Given the description of an element on the screen output the (x, y) to click on. 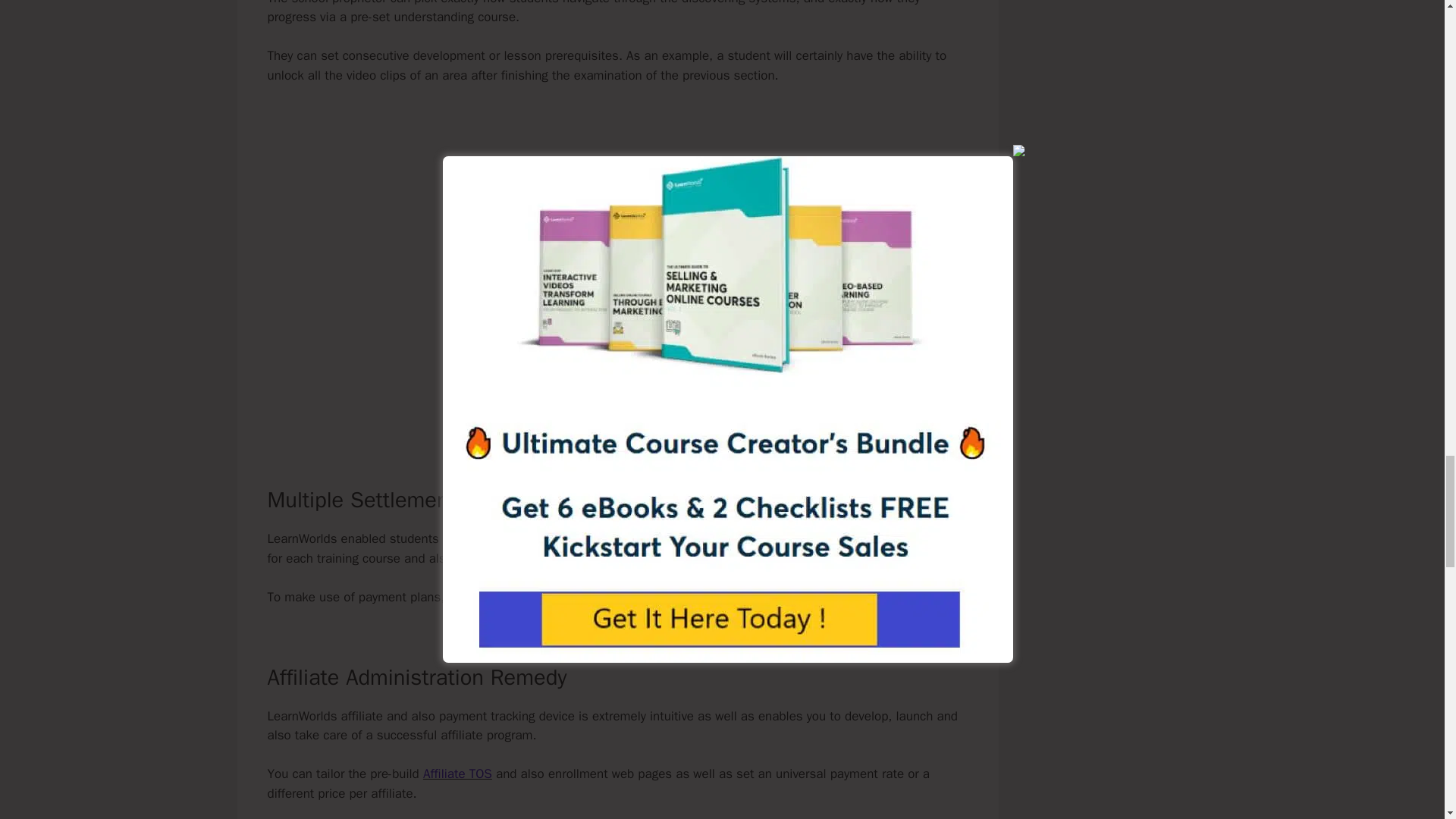
Affiliate TOS (457, 773)
PayPal (840, 596)
Stripe (693, 596)
Click Here (525, 419)
